Given the description of an element on the screen output the (x, y) to click on. 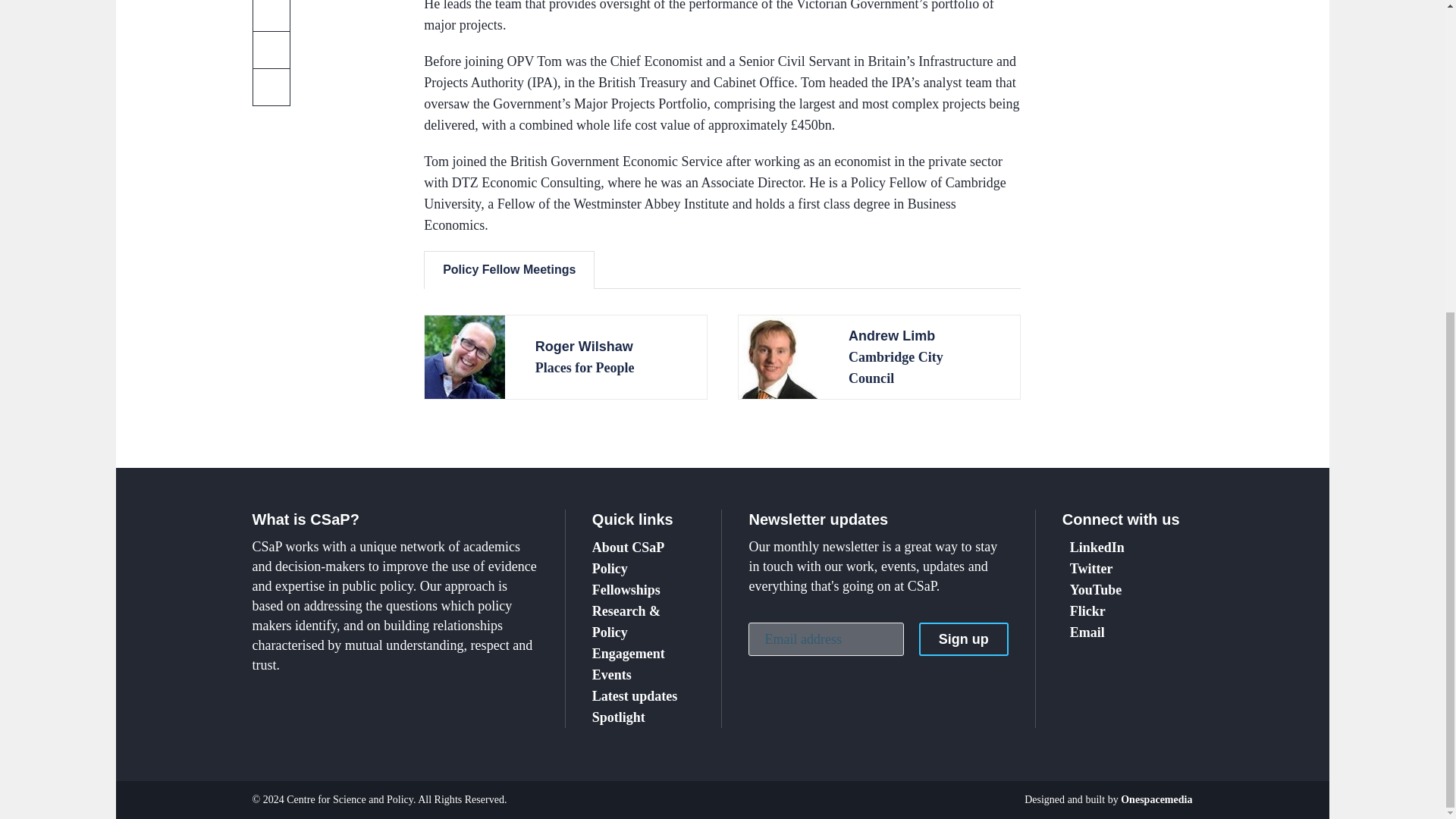
Sign up (963, 639)
